Given the description of an element on the screen output the (x, y) to click on. 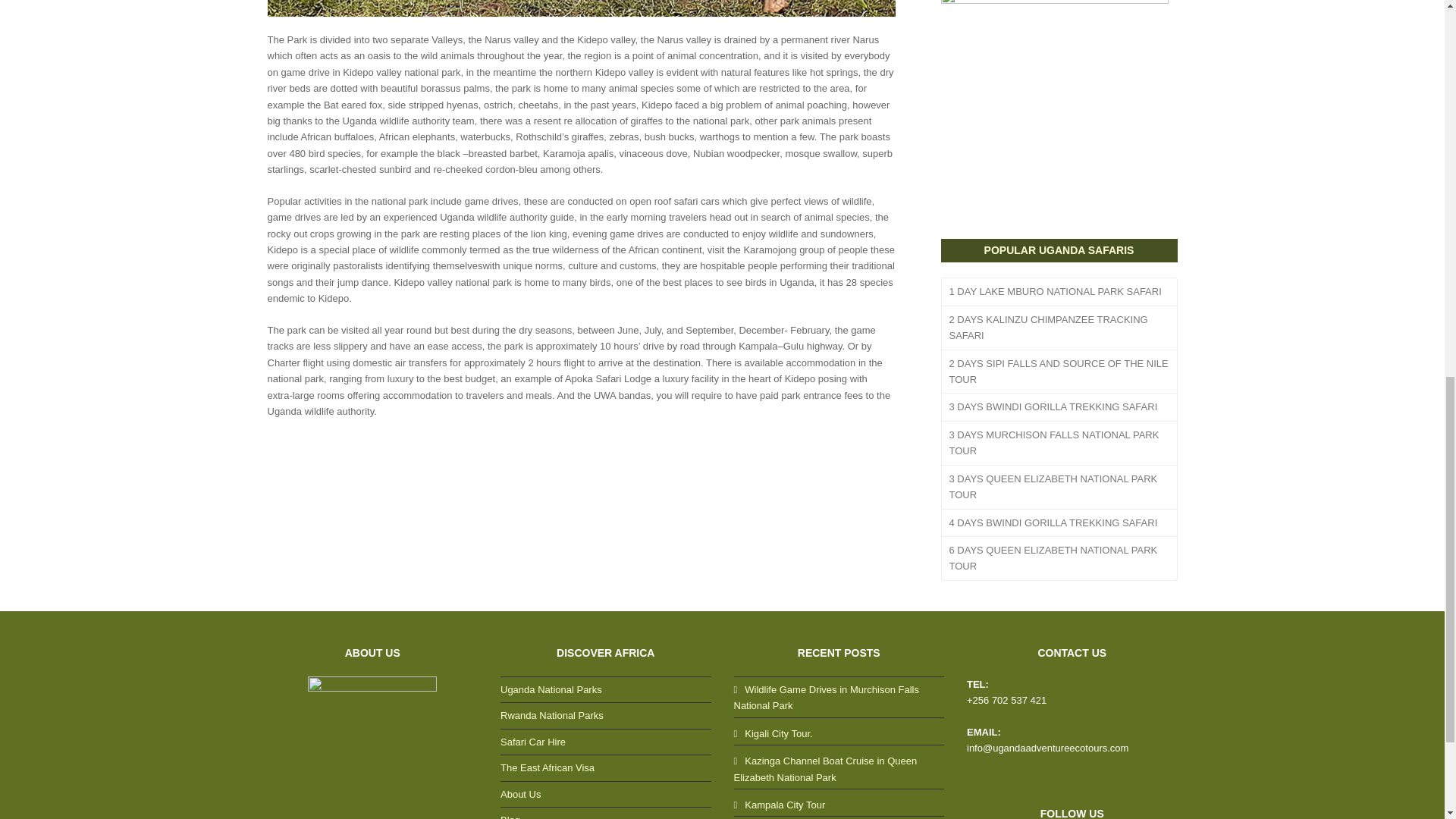
3 DAYS QUEEN ELIZABETH NATIONAL PARK TOUR (1058, 487)
4 DAYS BWINDI GORILLA TREKKING SAFARI (1058, 523)
3 DAYS MURCHISON FALLS NATIONAL PARK TOUR (1058, 443)
1 DAY LAKE MBURO NATIONAL PARK SAFARI (1058, 291)
6 DAYS QUEEN ELIZABETH NATIONAL PARK TOUR (1058, 558)
2 DAYS SIPI FALLS AND SOURCE OF THE NILE TOUR (1058, 371)
2 DAYS KALINZU CHIMPANZEE TRACKING SAFARI (1058, 328)
3 DAYS BWINDI GORILLA TREKKING SAFARI (1058, 406)
Uganda National Parks (551, 689)
